Given the description of an element on the screen output the (x, y) to click on. 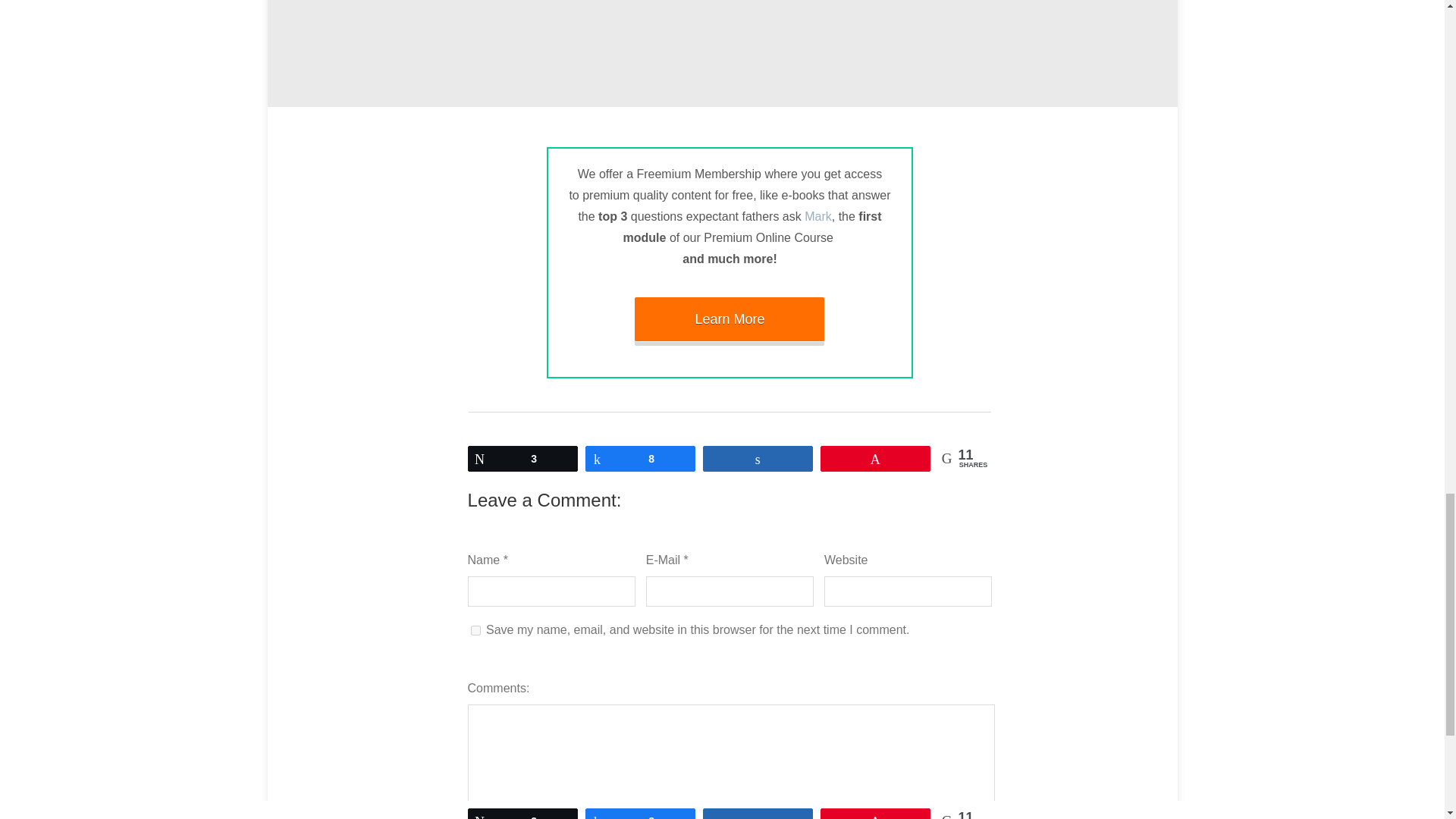
3 (522, 457)
Learn More (729, 319)
Mark (818, 215)
yes (475, 630)
8 (640, 457)
